Given the description of an element on the screen output the (x, y) to click on. 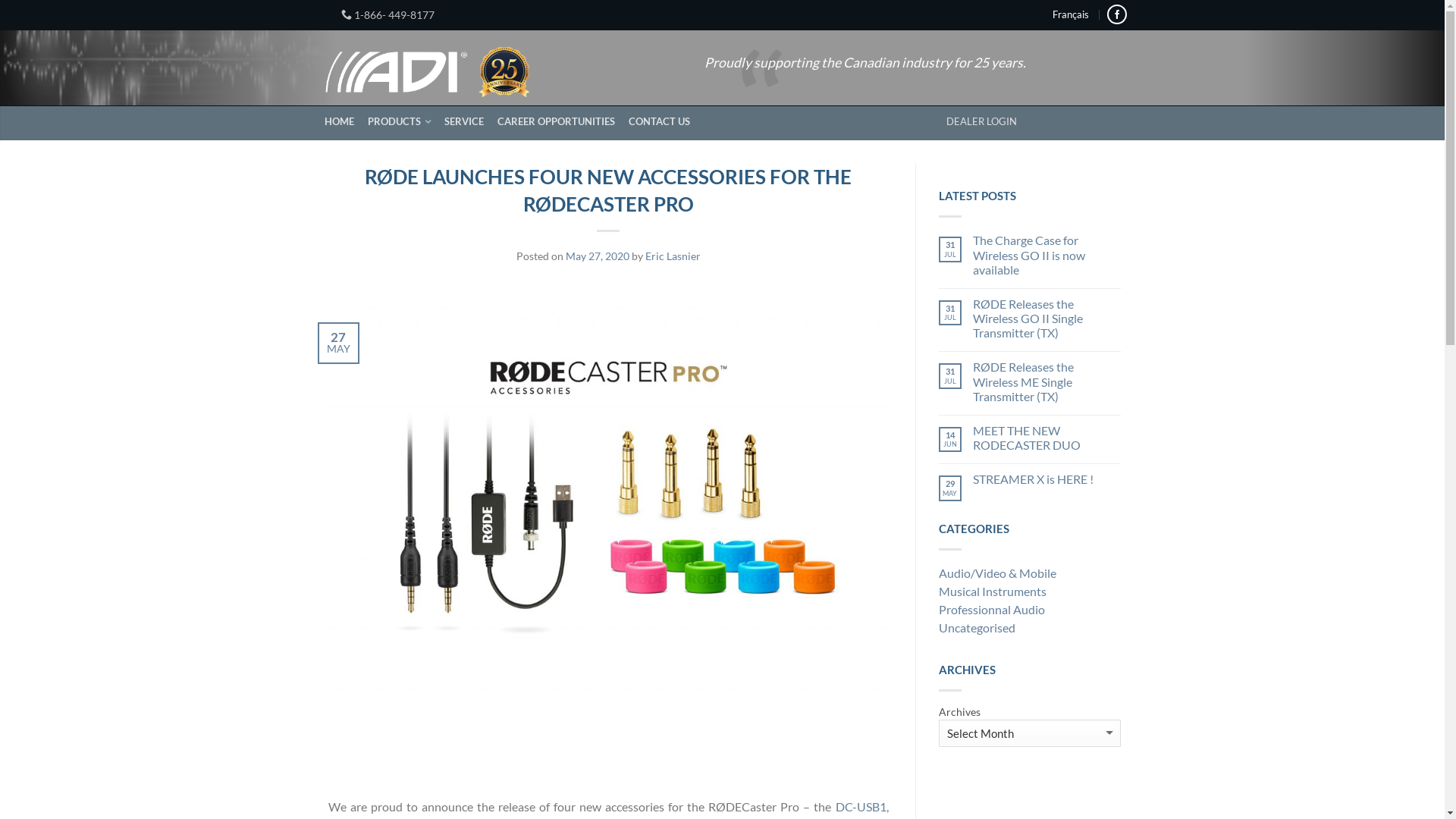
The Charge Case for Wireless GO II is now available Element type: text (1046, 254)
Musical Instruments Element type: text (1029, 592)
Uncategorised Element type: text (1029, 629)
CONTACT US Element type: text (663, 120)
PRODUCTS Element type: text (404, 120)
HOME Element type: text (344, 120)
1-866- 449-8177 Element type: text (387, 15)
MEET THE NEW RODECASTER DUO Element type: text (1046, 437)
SERVICE Element type: text (469, 120)
Audio/Video & Mobile Element type: text (1029, 574)
ADIpro.ca - We Know Creative Technologies Element type: hover (428, 67)
DEALER LOGIN Element type: text (981, 121)
Professionnal Audio Element type: text (1029, 611)
STREAMER X is HERE ! Element type: text (1046, 478)
May 27, 2020 Element type: text (597, 255)
CAREER OPPORTUNITIES Element type: text (561, 120)
Eric Lasnier Element type: text (671, 255)
